Given the description of an element on the screen output the (x, y) to click on. 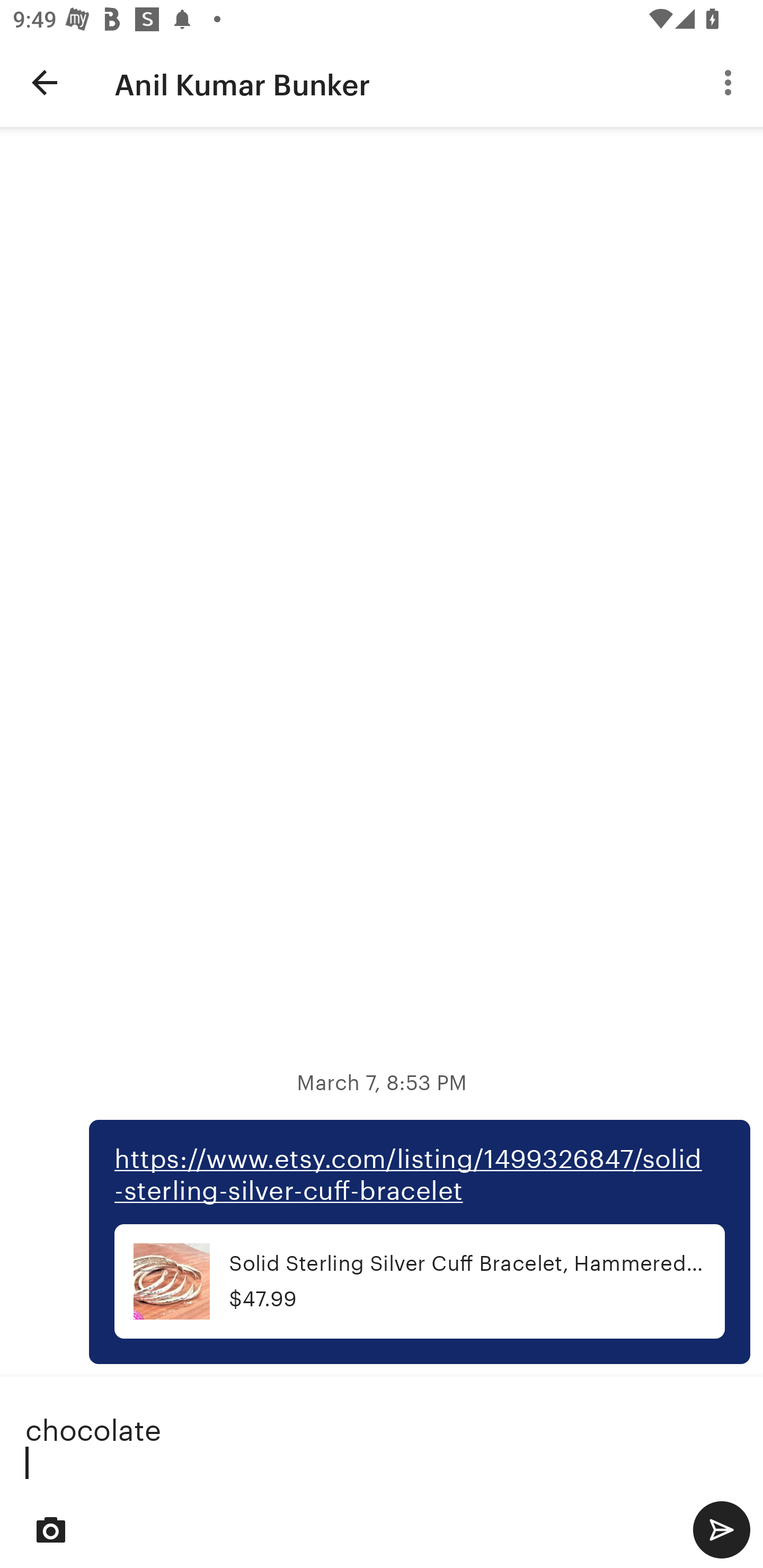
Navigate up (44, 82)
More options (731, 81)
chocolate
 (381, 1440)
Select image (50, 1529)
Send (721, 1529)
